Given the description of an element on the screen output the (x, y) to click on. 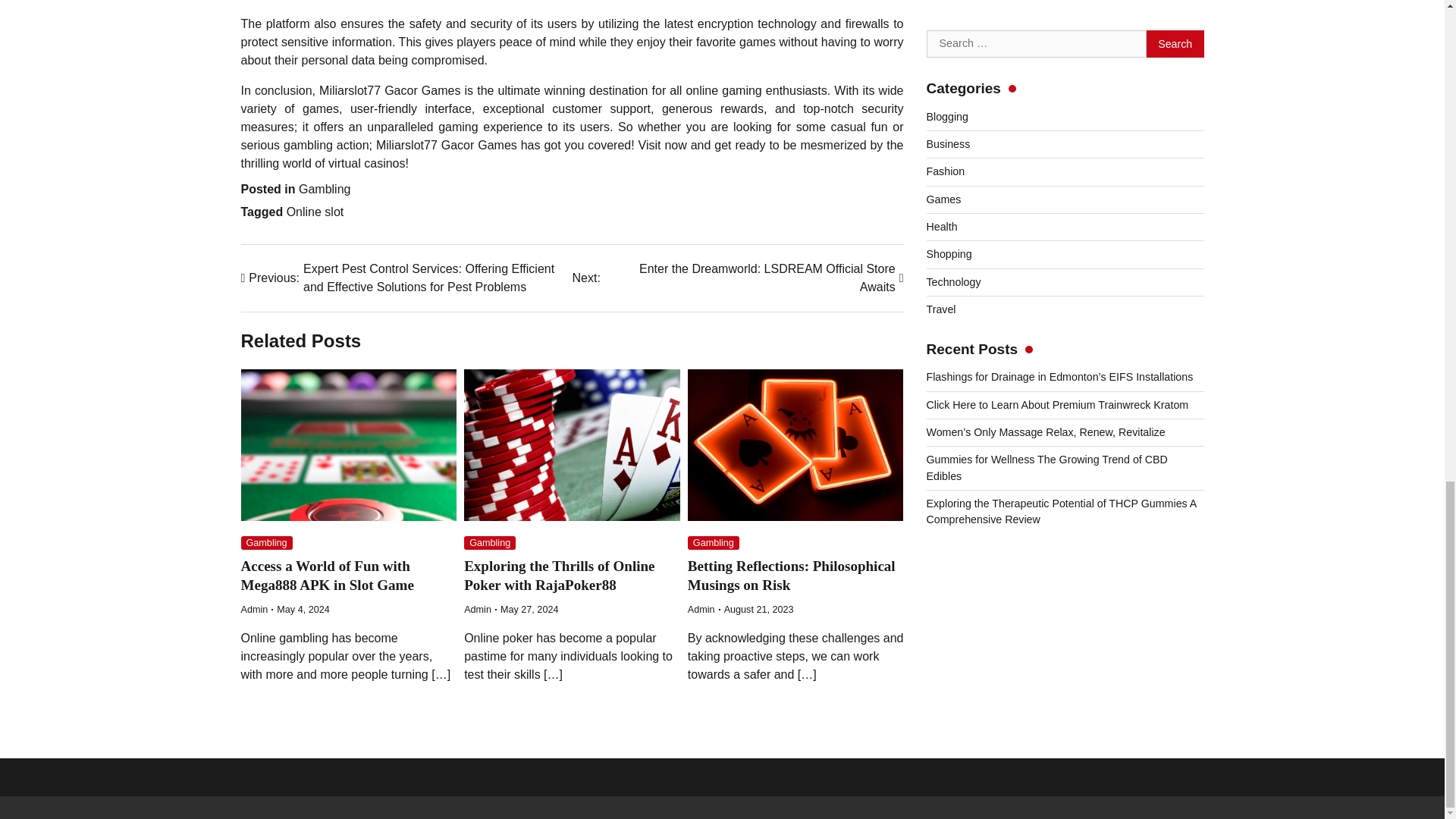
Gambling (737, 278)
Access a World of Fun with Mega888 APK in Slot Game (713, 543)
Gambling (327, 574)
Admin (266, 543)
Exploring the Thrills of Online Poker with RajaPoker88 (254, 609)
Admin (558, 574)
Online slot (478, 609)
Gambling (314, 211)
Gambling (489, 543)
Betting Reflections: Philosophical Musings on Risk (324, 188)
Admin (791, 574)
